Given the description of an element on the screen output the (x, y) to click on. 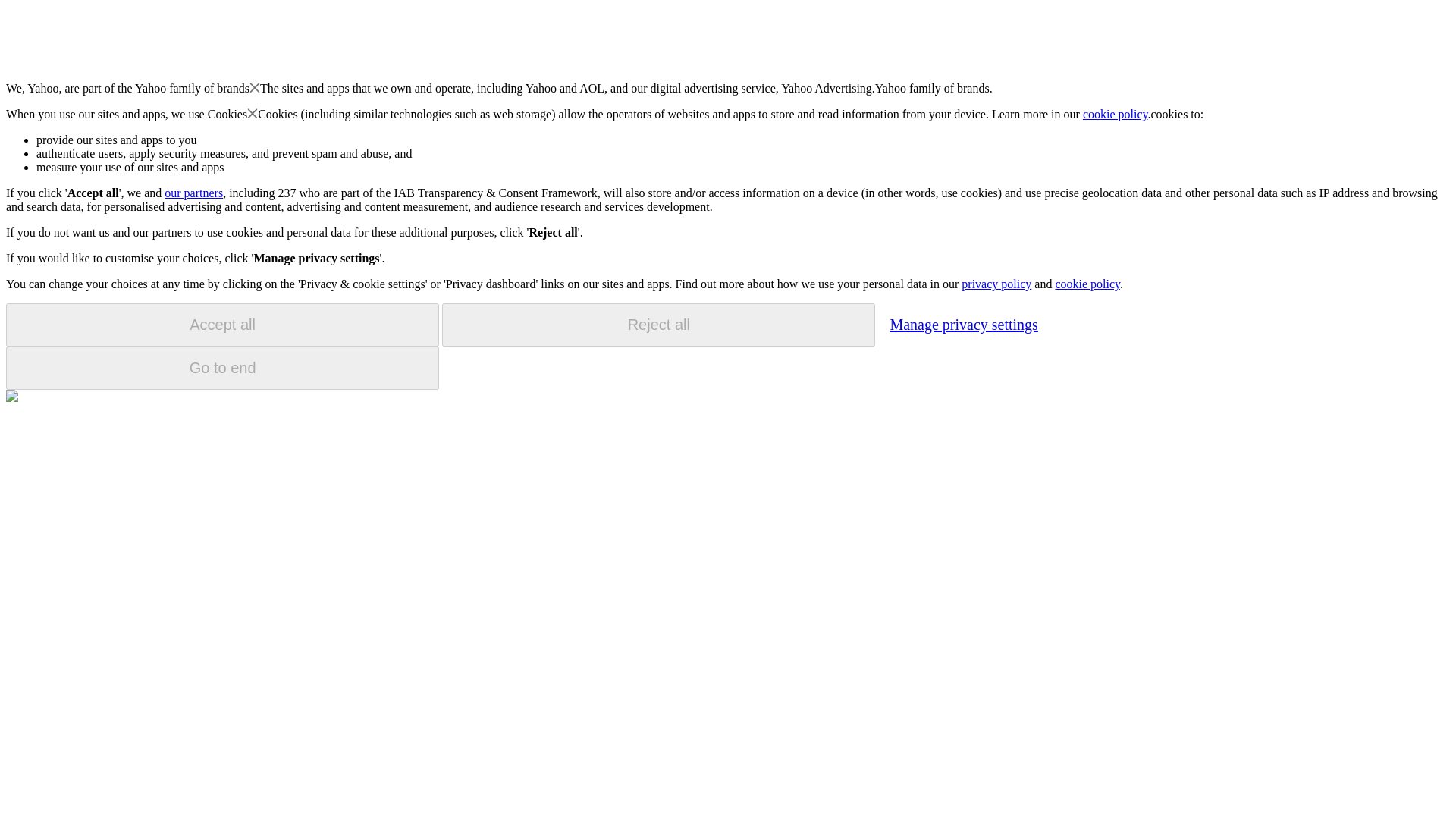
Manage privacy settings (963, 323)
Go to end (222, 367)
Reject all (658, 324)
Accept all (222, 324)
cookie policy (1086, 283)
our partners (193, 192)
cookie policy (1115, 113)
privacy policy (995, 283)
